Given the description of an element on the screen output the (x, y) to click on. 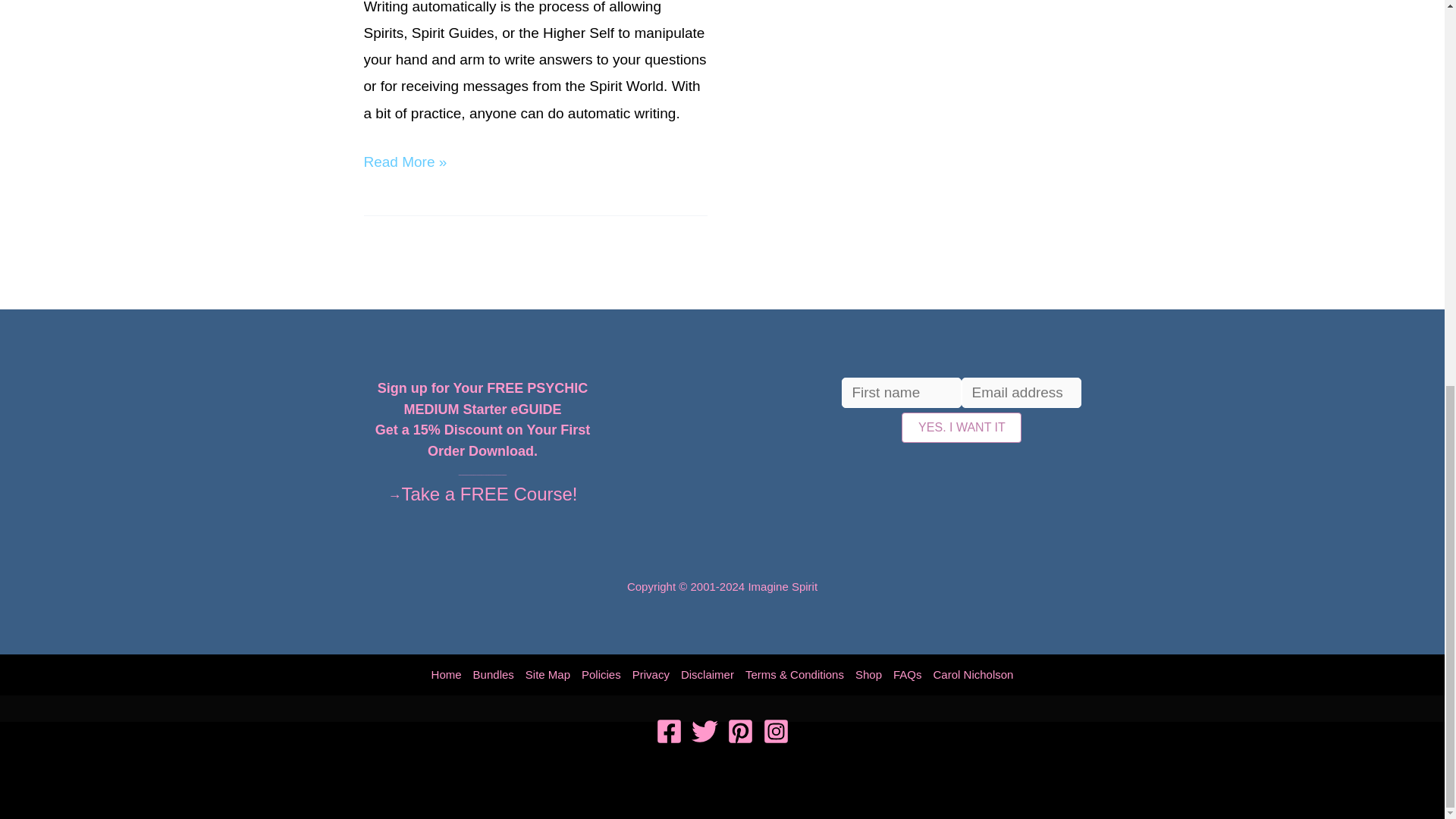
YES. I WANT IT (961, 427)
Policies (601, 674)
